Given the description of an element on the screen output the (x, y) to click on. 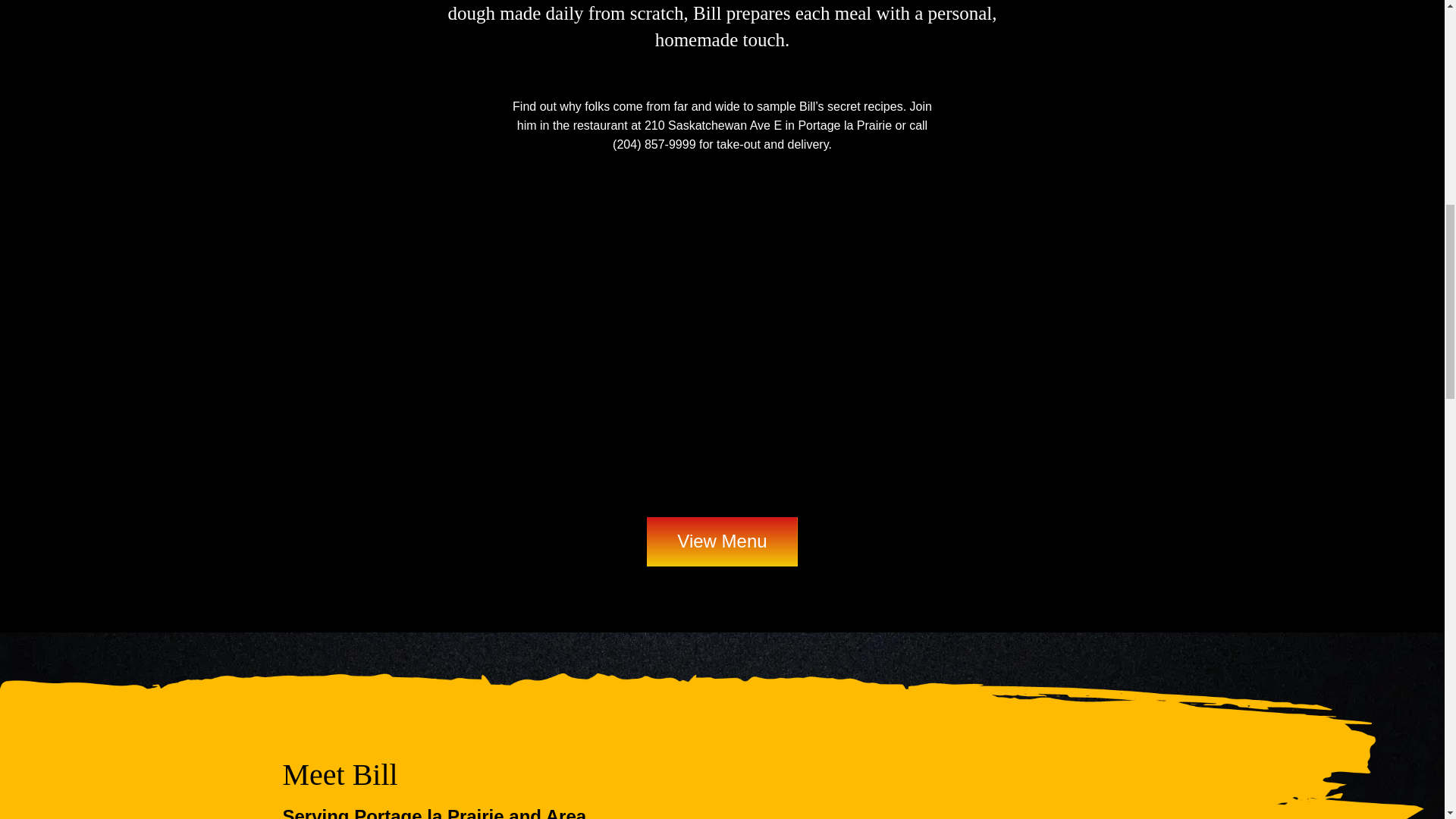
View Menu (721, 541)
